Given the description of an element on the screen output the (x, y) to click on. 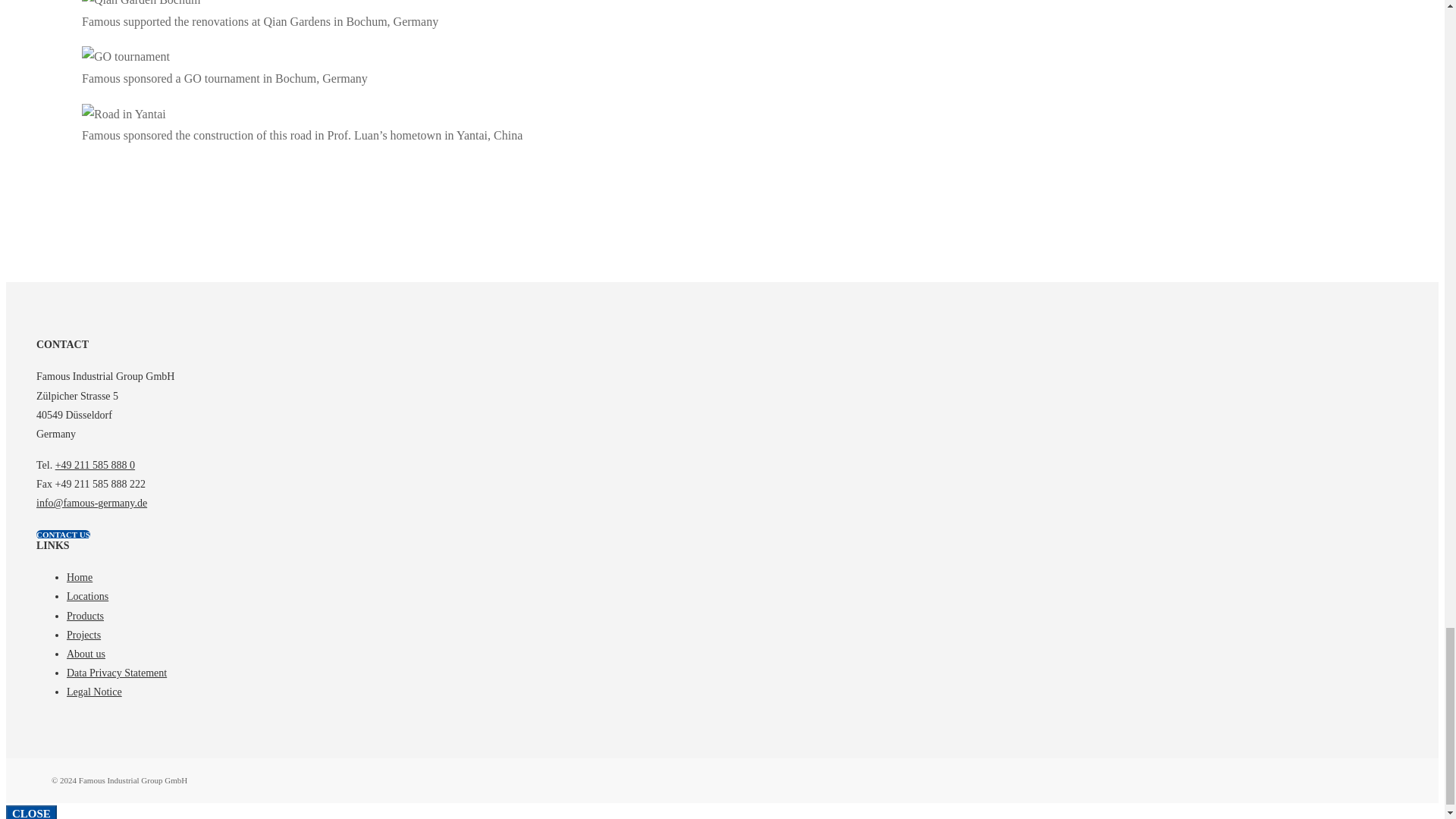
Projects (83, 634)
Legal Notice (94, 691)
Locations (86, 595)
About us (85, 654)
Products (84, 615)
Data Privacy Statement (116, 672)
Home (79, 577)
CONTACT US (63, 533)
